Given the description of an element on the screen output the (x, y) to click on. 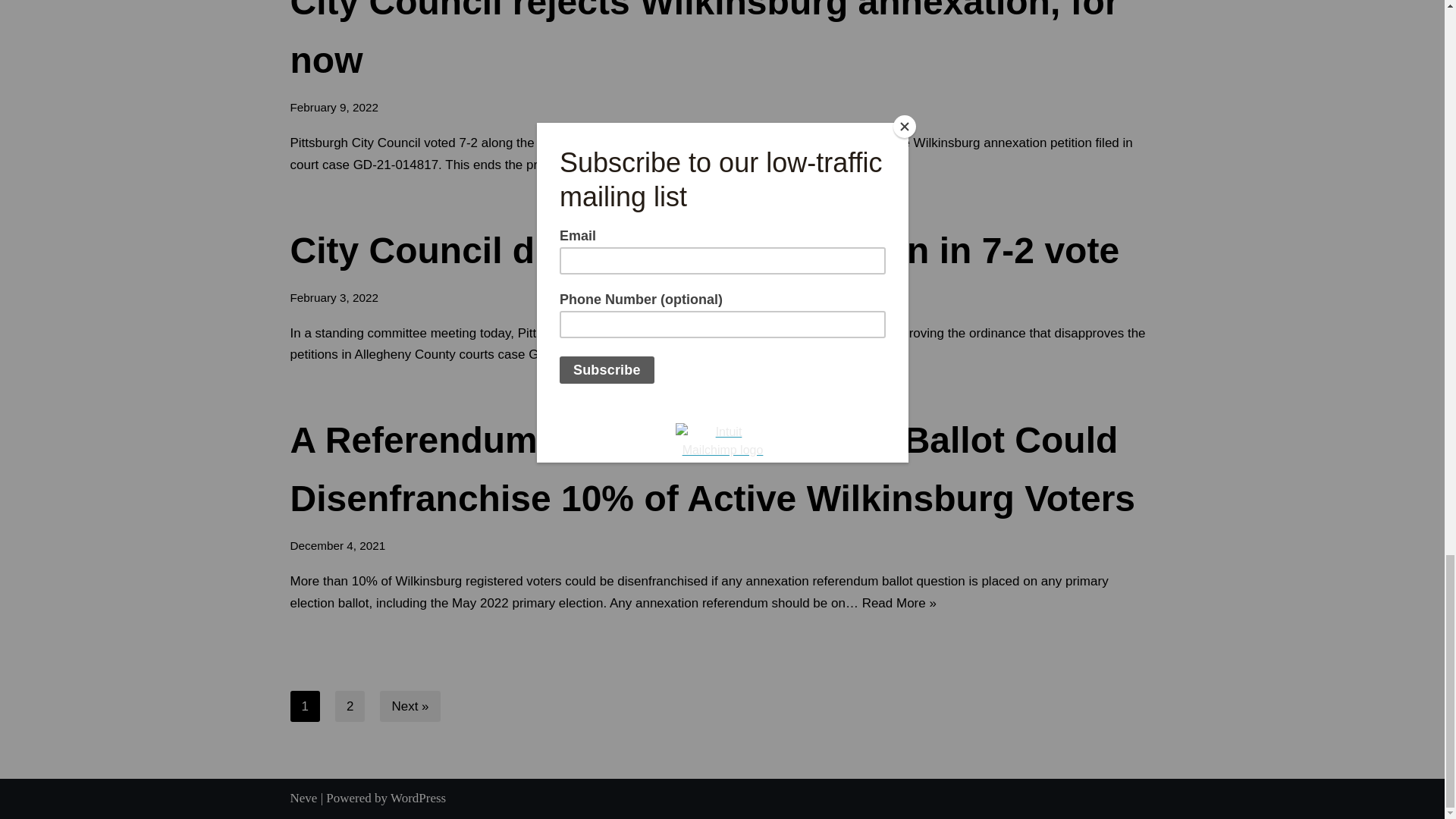
Neve (303, 798)
City Council disapproves annexation in 7-2 vote (704, 250)
WordPress (417, 798)
City Council rejects Wilkinsburg annexation, for now (703, 40)
2 (349, 706)
